Given the description of an element on the screen output the (x, y) to click on. 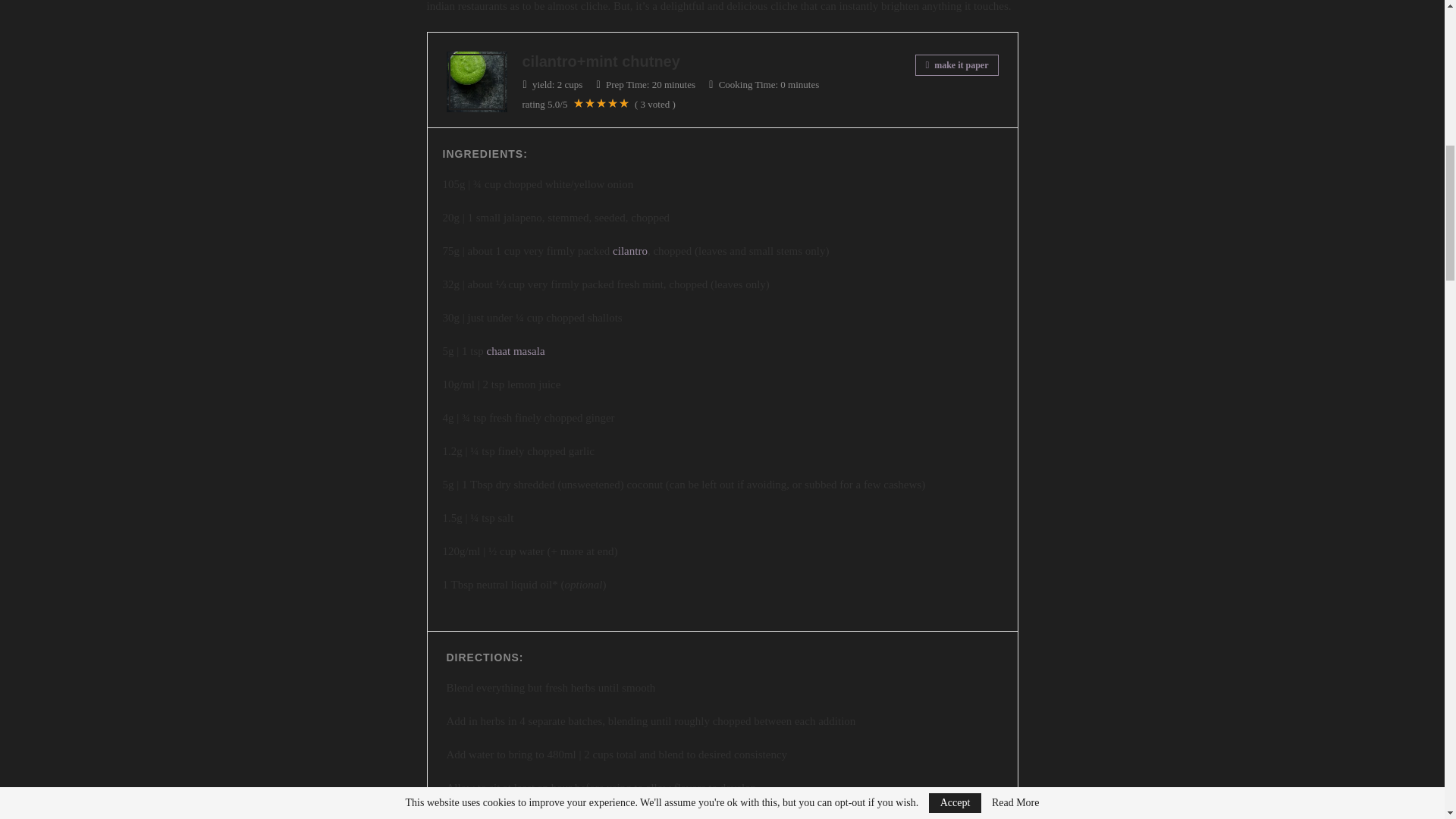
chaat masala (515, 350)
make it paper (956, 65)
cilantro (629, 250)
